Given the description of an element on the screen output the (x, y) to click on. 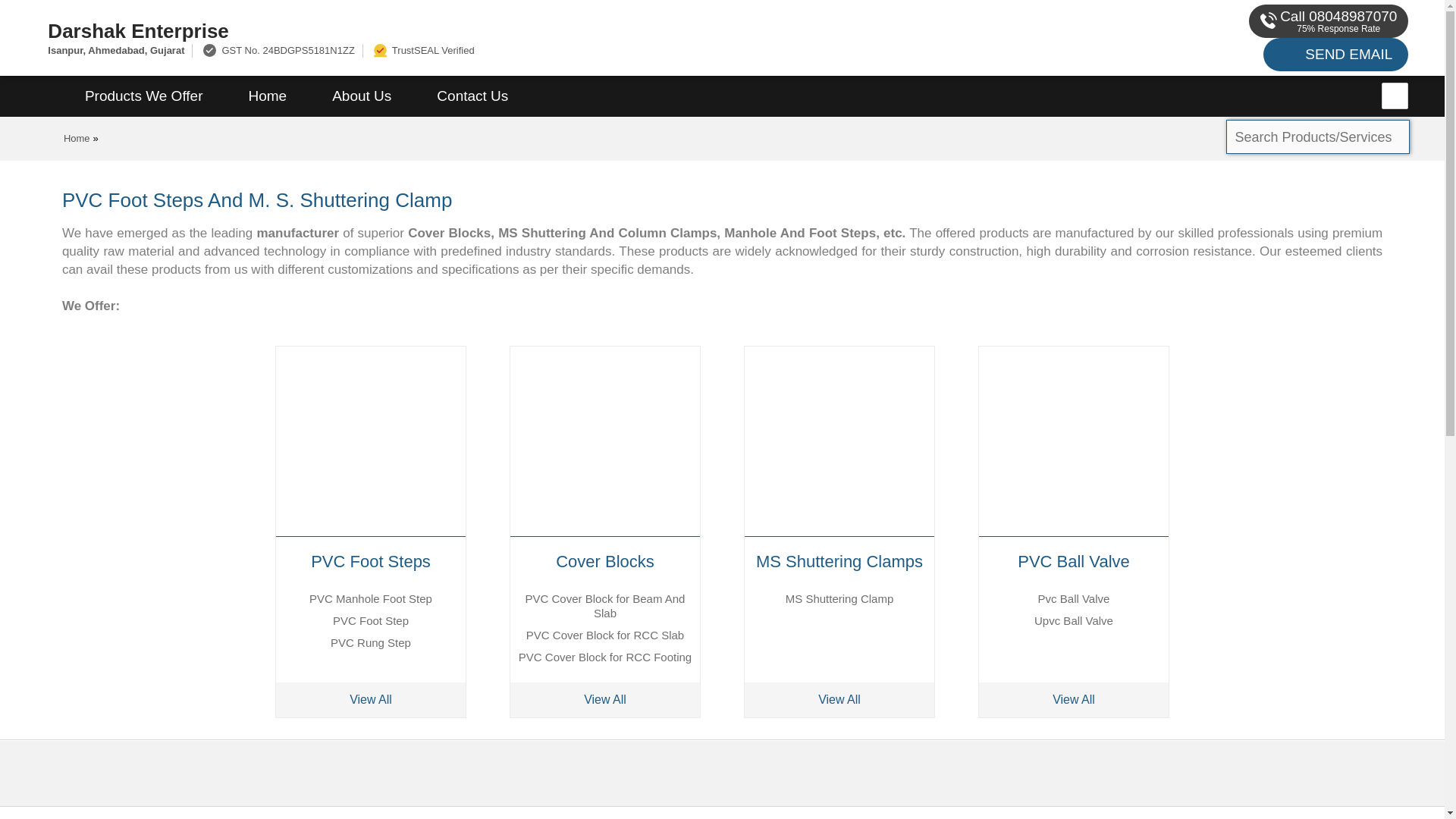
Darshak Enterprise (485, 31)
PVC Foot Steps (370, 560)
Home (77, 138)
PVC Rung Step (370, 642)
PVC Cover Block for RCC Slab (604, 634)
MS Shuttering Clamps (839, 560)
PVC Cover Block for Beam And Slab (605, 605)
PVC Manhole Foot Step (370, 598)
About Us (360, 96)
View All (370, 699)
View All (1073, 699)
Contact Us (472, 96)
Pvc Ball Valve (1073, 598)
View All (605, 699)
Cover Blocks (605, 560)
